Given the description of an element on the screen output the (x, y) to click on. 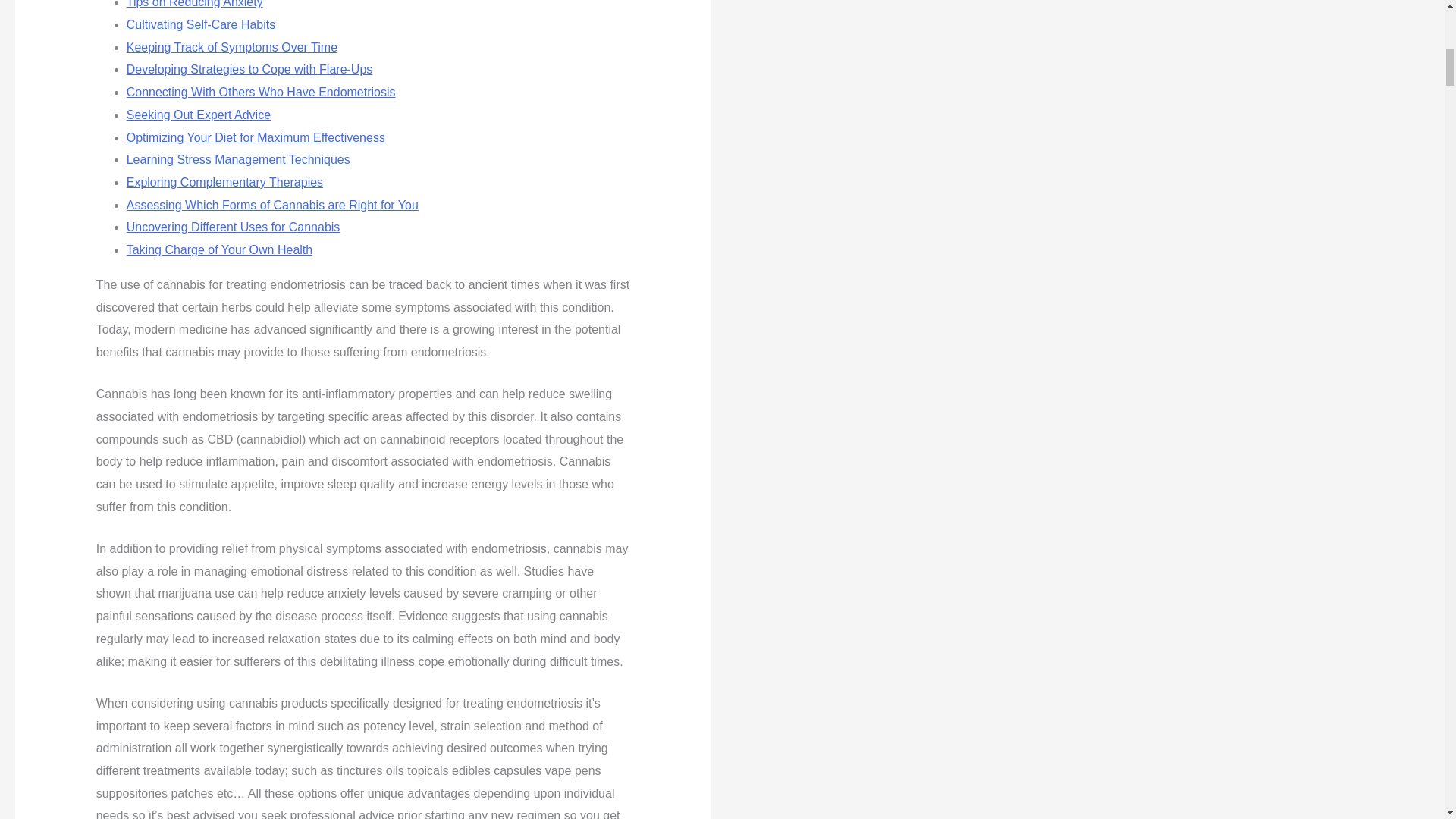
Learning Stress Management Techniques (238, 159)
Seeking Out Expert Advice (198, 114)
Keeping Track of Symptoms Over Time (231, 47)
Cultivating Self-Care Habits (201, 24)
Assessing Which Forms of Cannabis are Right for You (272, 205)
Taking Charge of Your Own Health (219, 249)
Developing Strategies to Cope with Flare-Ups (249, 69)
Tips on Reducing Anxiety (194, 4)
Optimizing Your Diet for Maximum Effectiveness (255, 137)
Connecting With Others Who Have Endometriosis (261, 91)
